Given the description of an element on the screen output the (x, y) to click on. 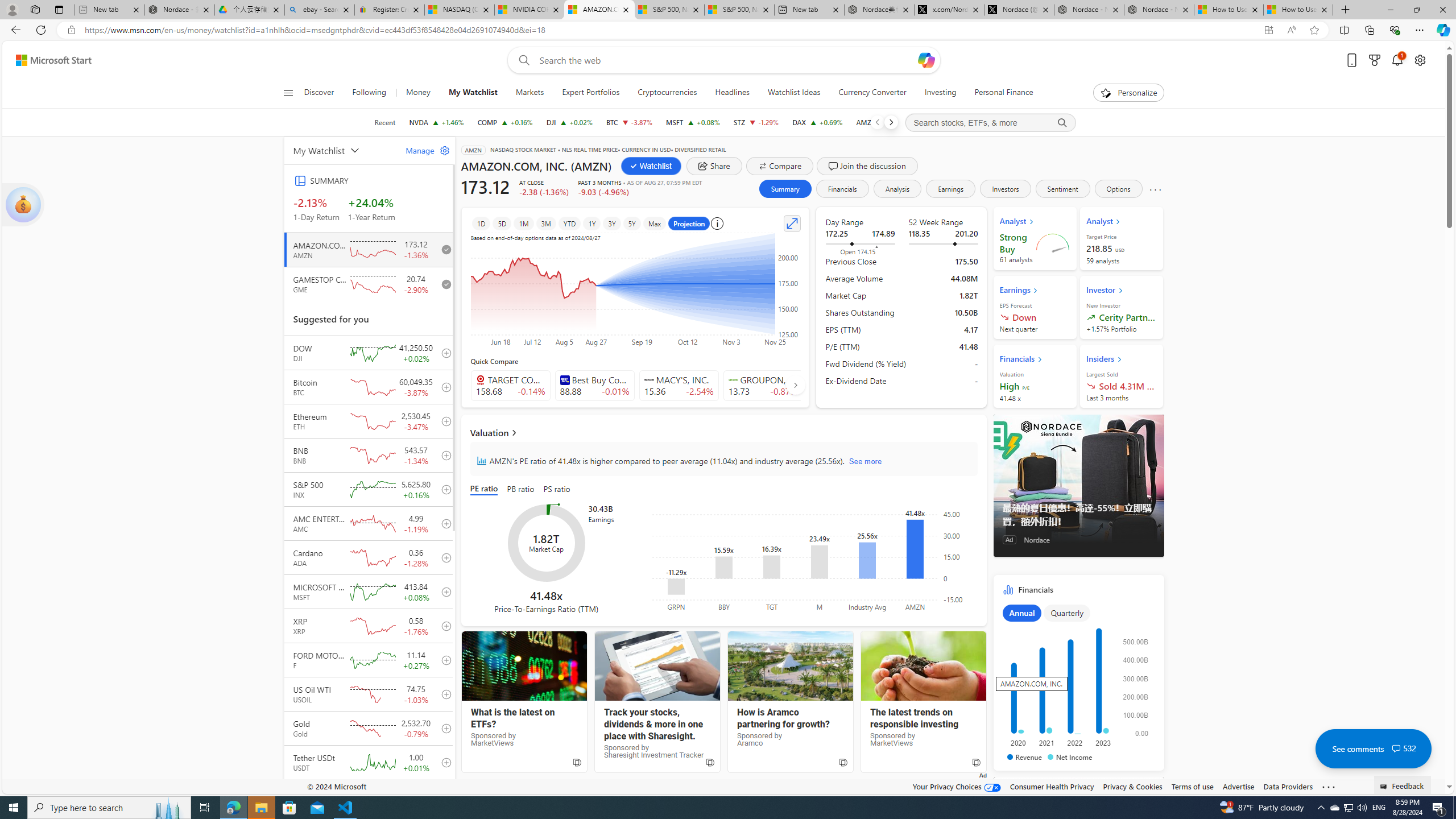
Watchlist Ideas (793, 92)
Analysis (897, 188)
Earnings (950, 188)
Summary (784, 188)
YTD (568, 223)
App bar (728, 29)
Currency Converter (872, 92)
Financials (1077, 675)
Class: oneFooter_seeMore-DS-EntryPoint1-1 (1328, 786)
Open Copilot (926, 59)
3Y (611, 223)
